Given the description of an element on the screen output the (x, y) to click on. 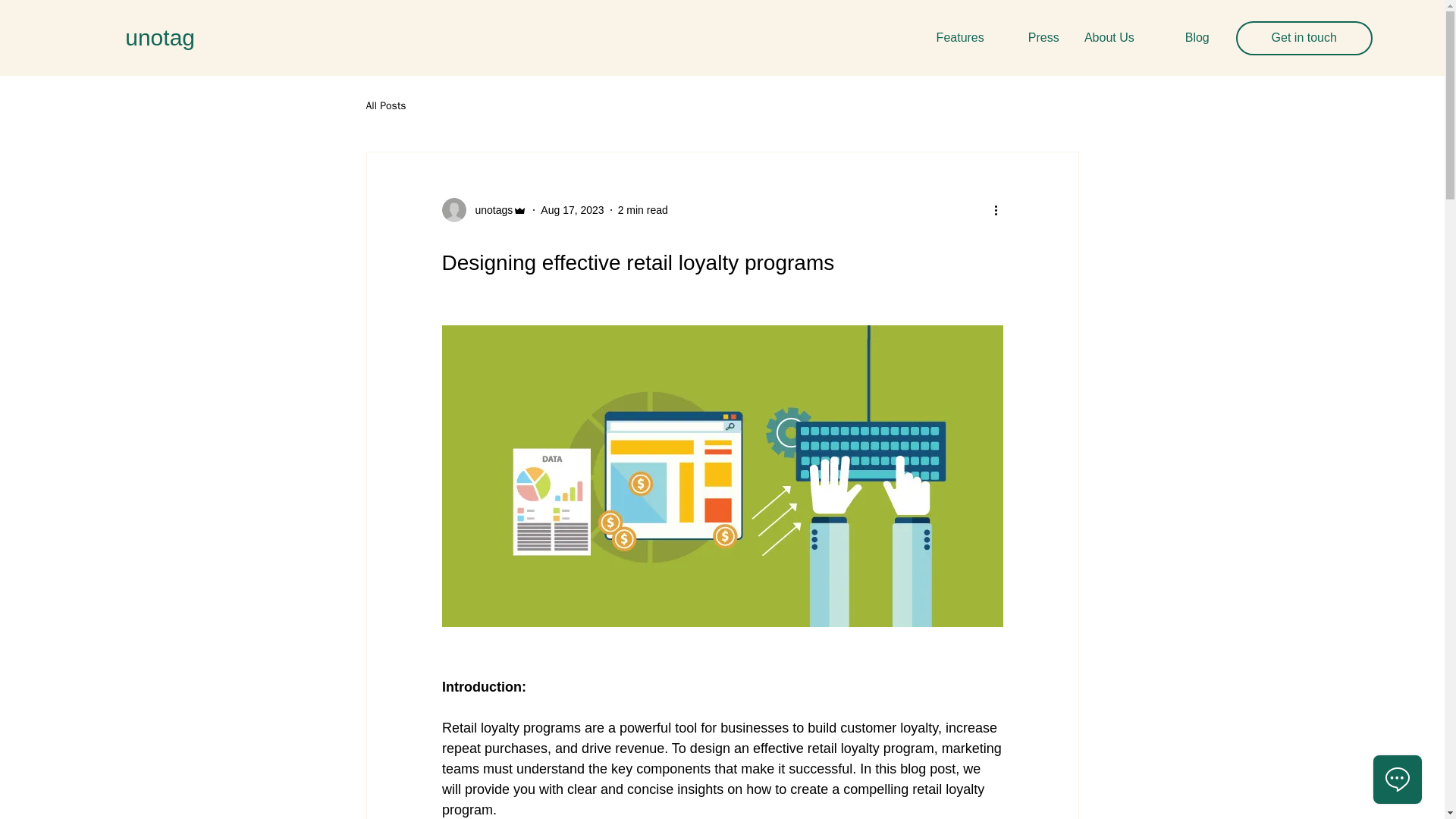
Wix Chat (1401, 783)
2 min read (642, 209)
Blog (1183, 37)
Get in touch (1304, 38)
About Us (1107, 37)
Press (1032, 37)
Features (957, 37)
All Posts (385, 106)
Aug 17, 2023 (572, 209)
unotag (160, 37)
unotags (488, 209)
